Given the description of an element on the screen output the (x, y) to click on. 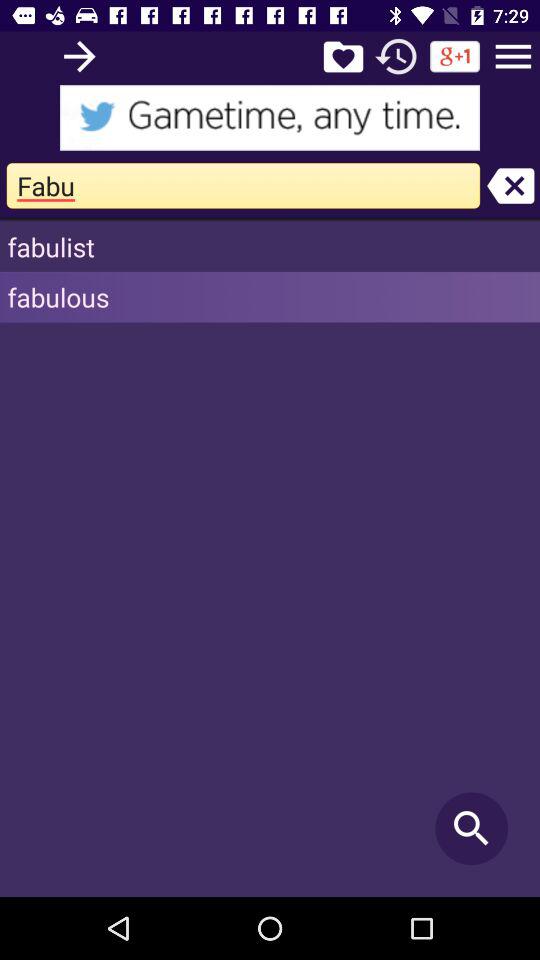
timer icon (396, 56)
